Given the description of an element on the screen output the (x, y) to click on. 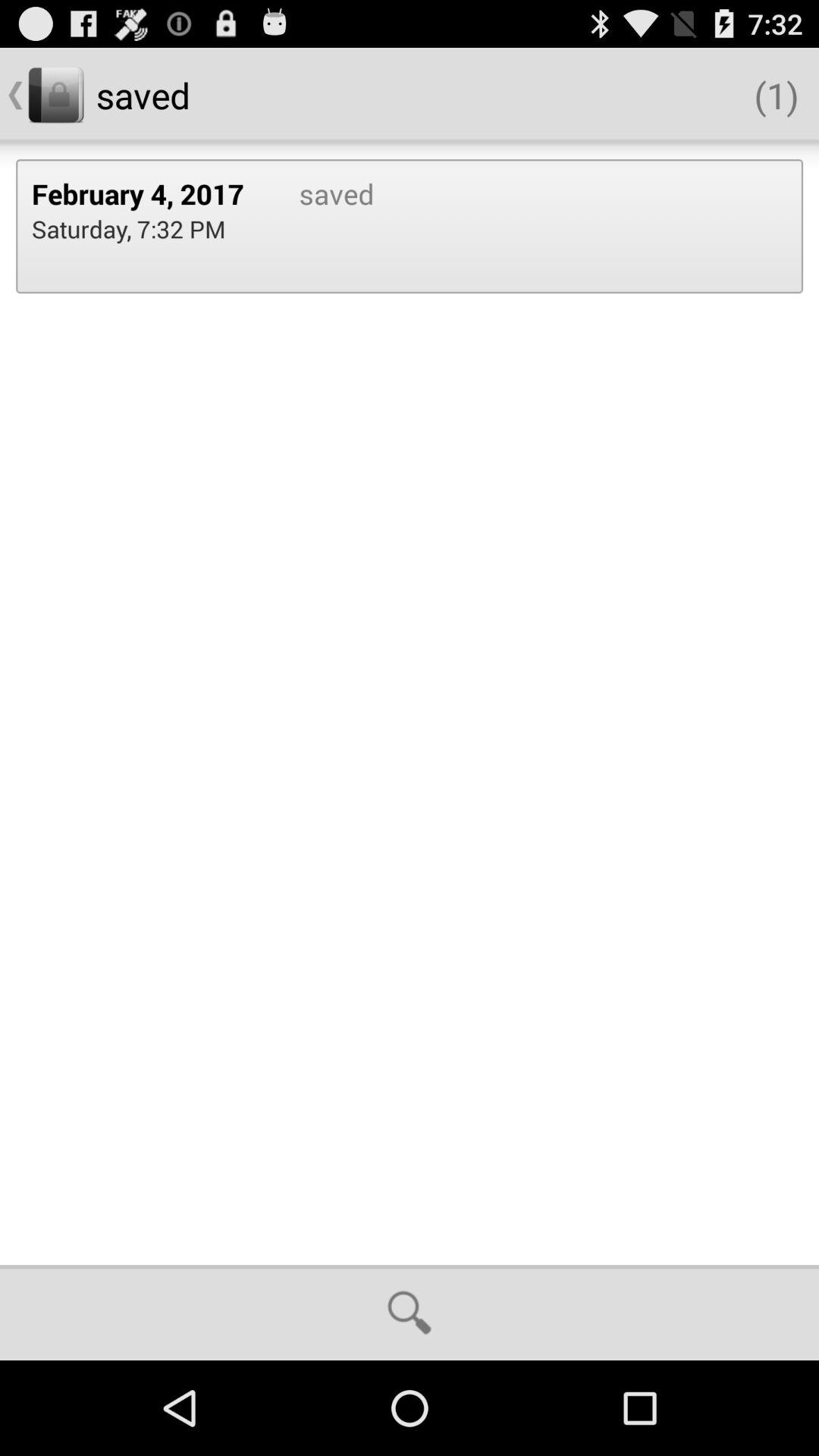
tap the icon next to the saved (128, 228)
